Given the description of an element on the screen output the (x, y) to click on. 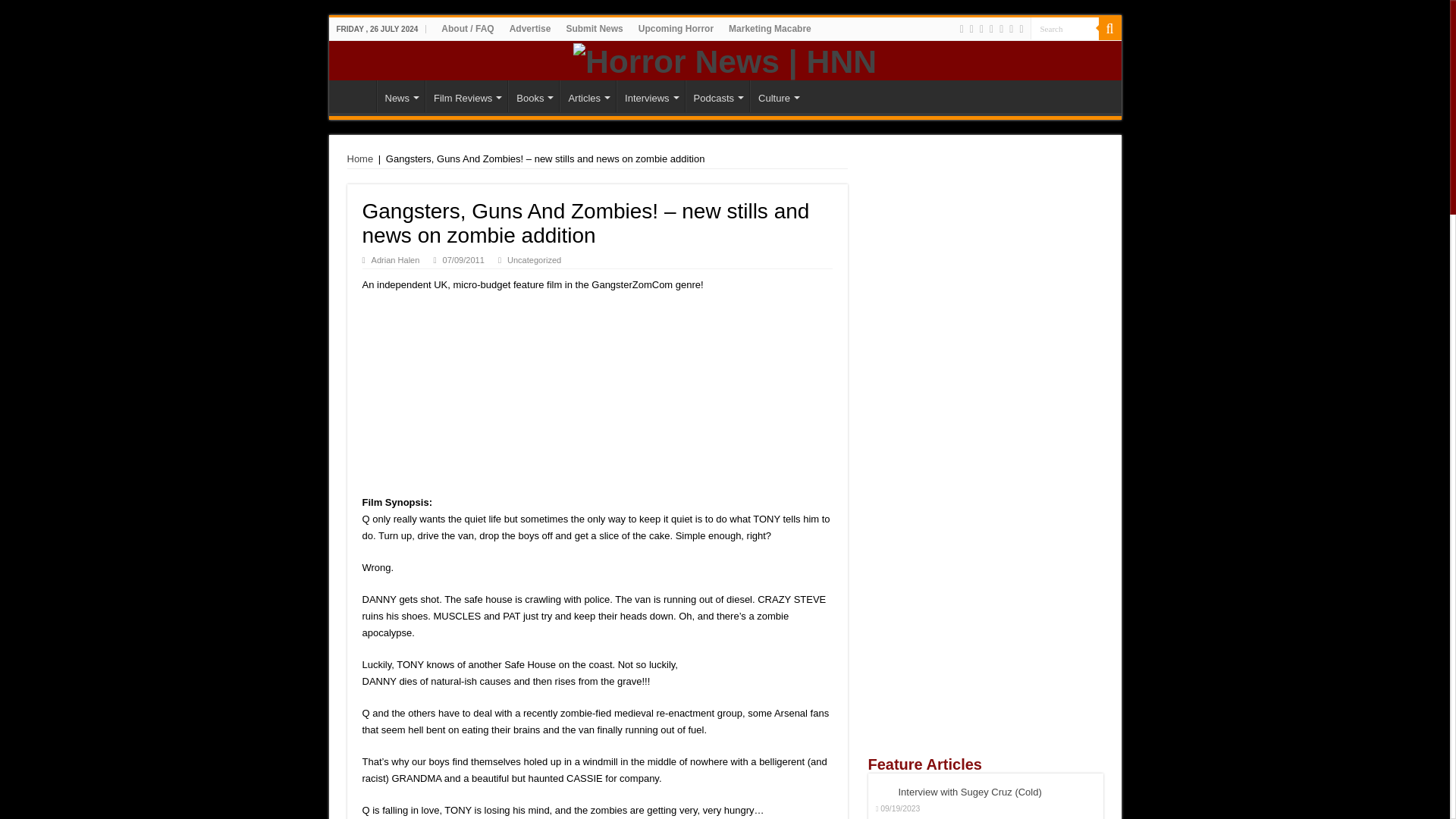
Submit News (593, 28)
Search (1063, 28)
Advertise (530, 28)
Upcoming Horror (675, 28)
Search (1063, 28)
Advertise on HorrorNews.net (530, 28)
Search (1063, 28)
Film Reviews (465, 96)
Submit News to Horrornews.net (593, 28)
News (400, 96)
Search (1109, 28)
Marketing Macabre (769, 28)
HOME (355, 96)
